Given the description of an element on the screen output the (x, y) to click on. 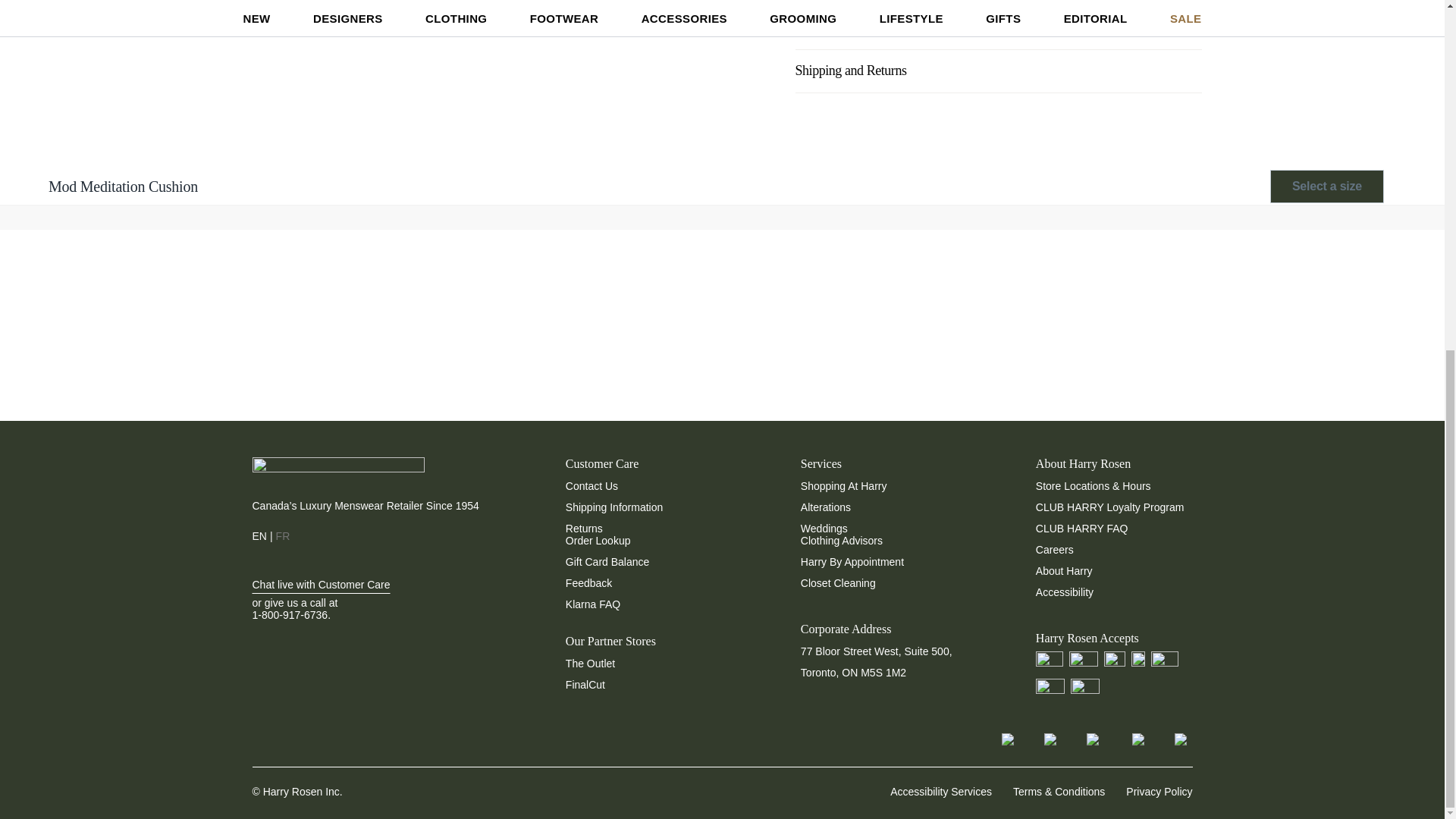
Facebook (1128, 736)
Tiktok (997, 736)
Wechat (1171, 736)
Twitter (1083, 736)
Instagram (1040, 736)
